Given the description of an element on the screen output the (x, y) to click on. 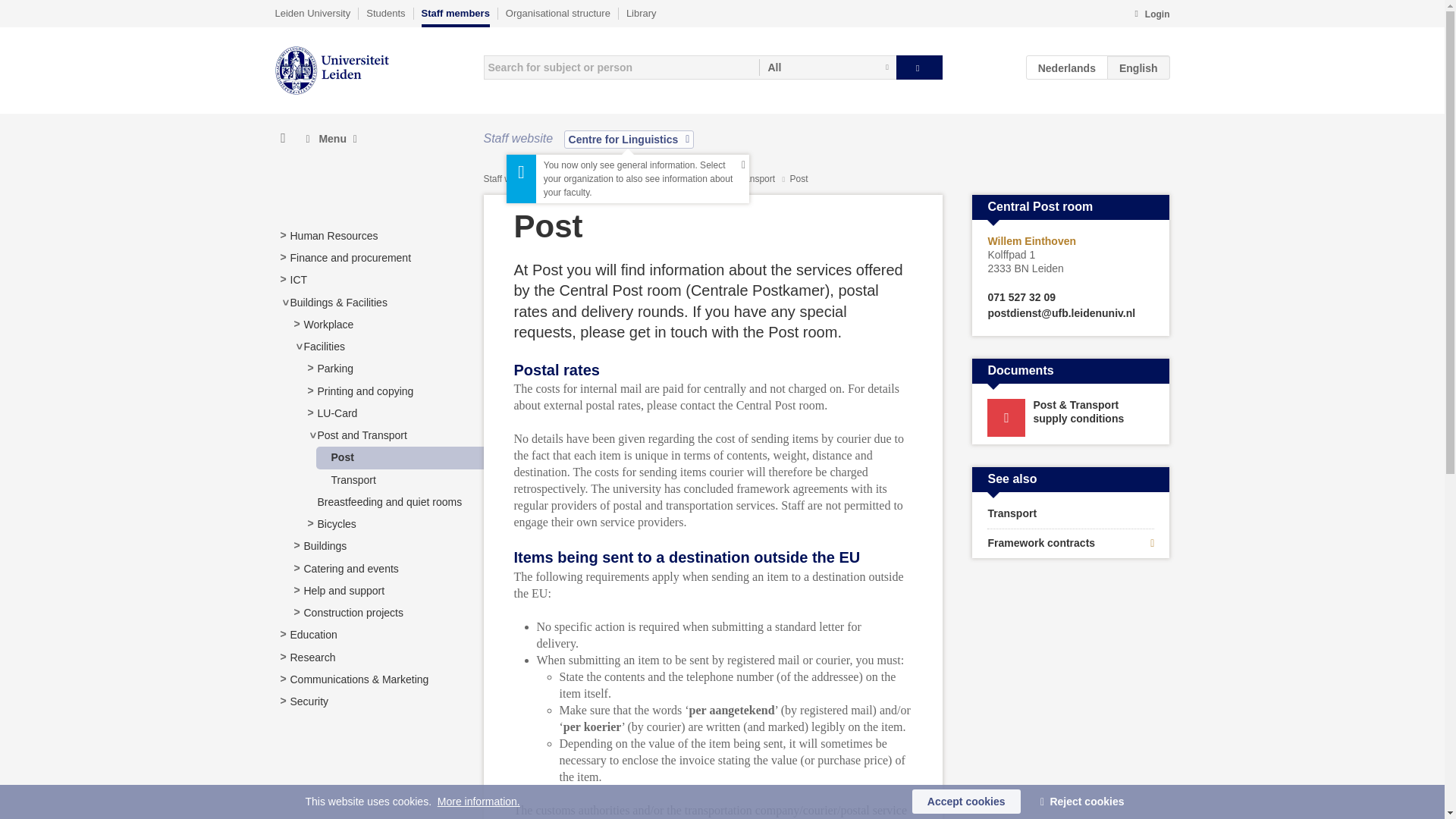
Students (385, 13)
All (827, 67)
Organisational structure (557, 13)
Leiden University (312, 13)
Staff members (455, 17)
Human Resources (333, 235)
Search (919, 67)
Menu (330, 139)
Library (641, 13)
Centre for Linguistics (629, 139)
NL (1067, 67)
Login (1151, 14)
